Given the description of an element on the screen output the (x, y) to click on. 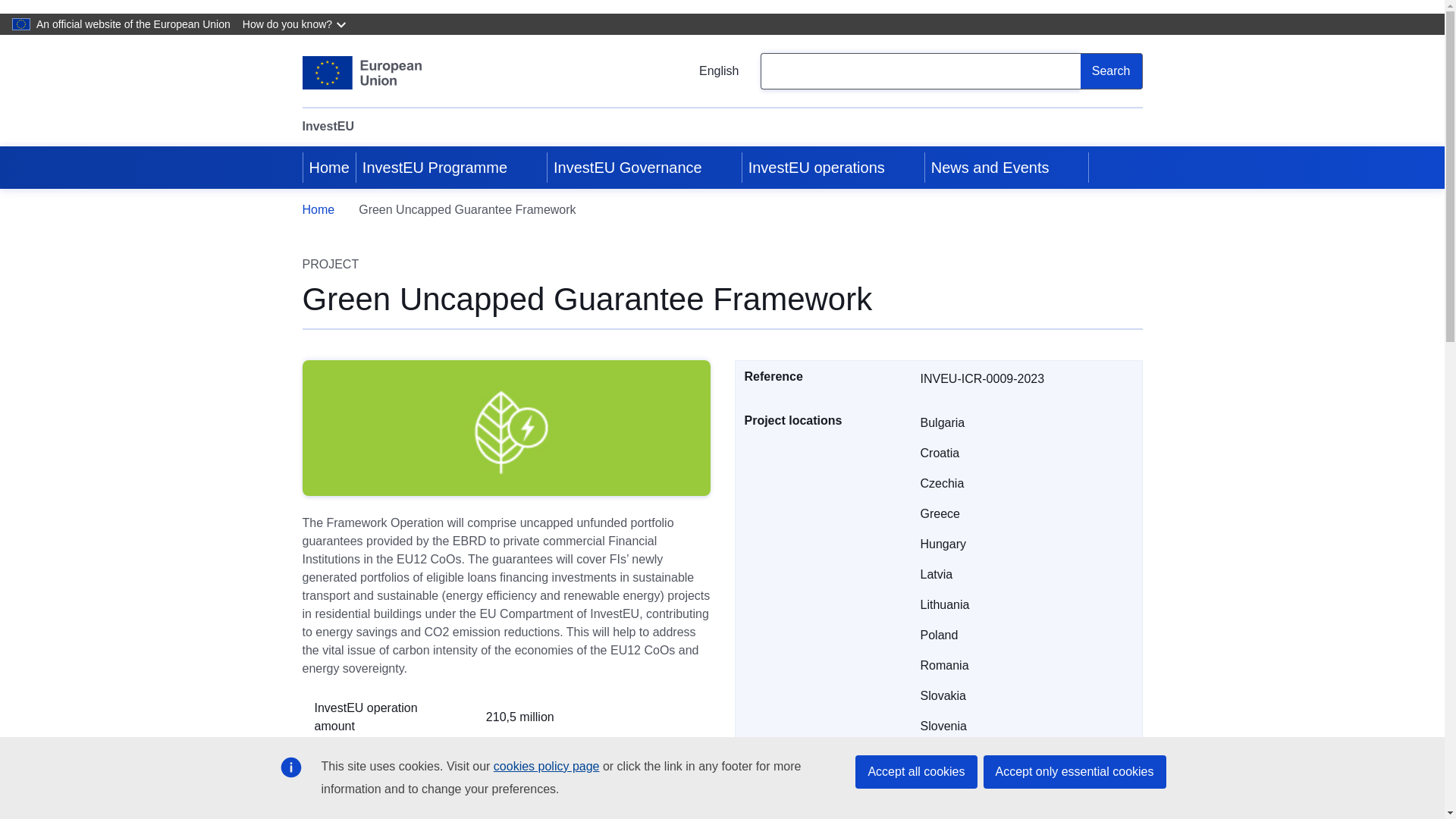
News and Events (988, 167)
How do you know? (295, 24)
Accept only essential cookies (1074, 771)
Home (328, 167)
InvestEU Programme (433, 167)
InvestEU Governance (625, 167)
Search (1111, 71)
InvestEU operations (815, 167)
Accept all cookies (916, 771)
European Union (361, 72)
